Given the description of an element on the screen output the (x, y) to click on. 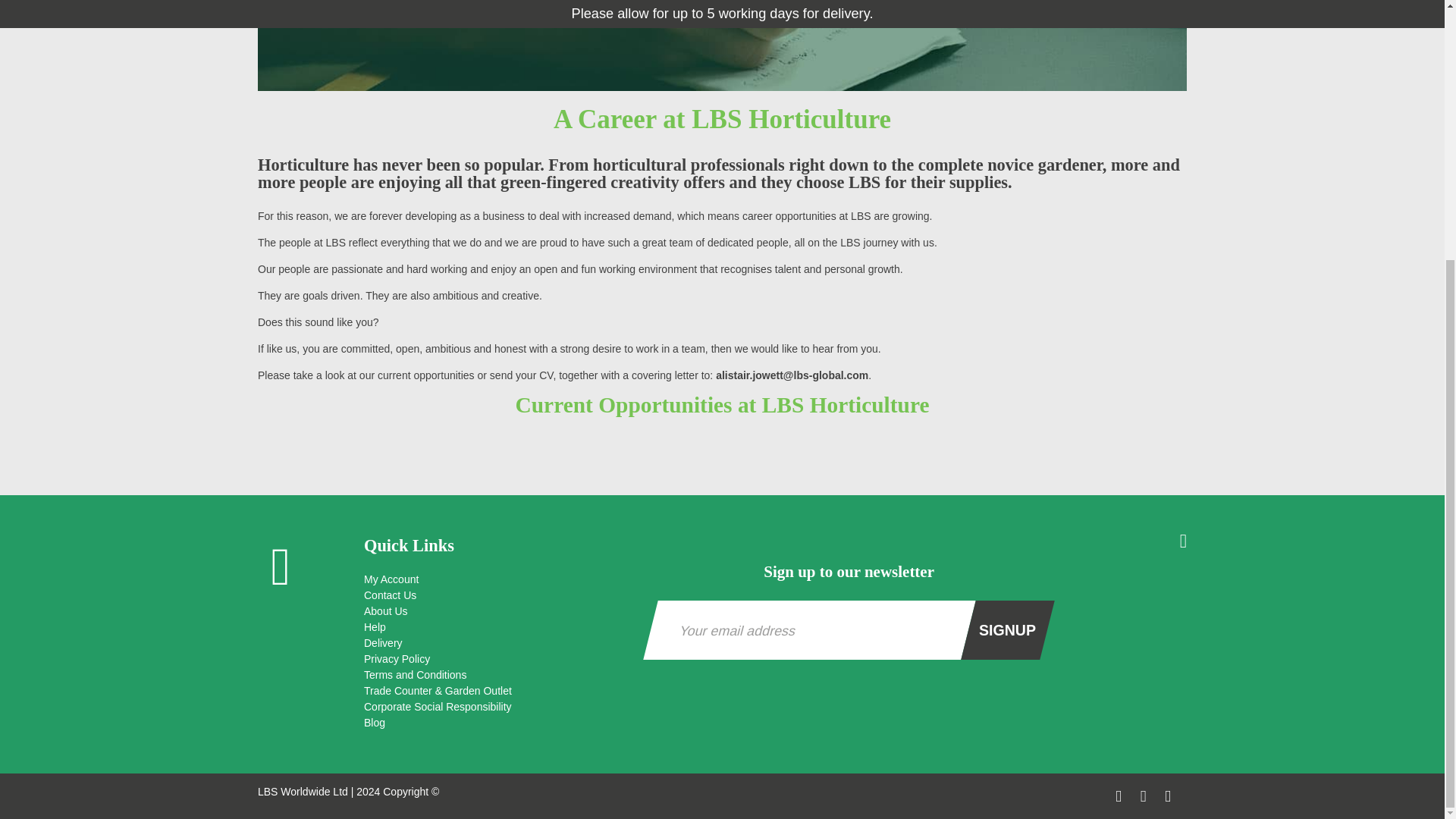
Delivery (496, 643)
Help (496, 627)
Corporate Social Responsibility (496, 706)
My Account (496, 579)
Blog (496, 722)
About (496, 611)
Trade Counter and Garden Outlet (496, 691)
Sign Up (1007, 629)
Contact Us (496, 595)
Terms and Conditions (496, 675)
